Given the description of an element on the screen output the (x, y) to click on. 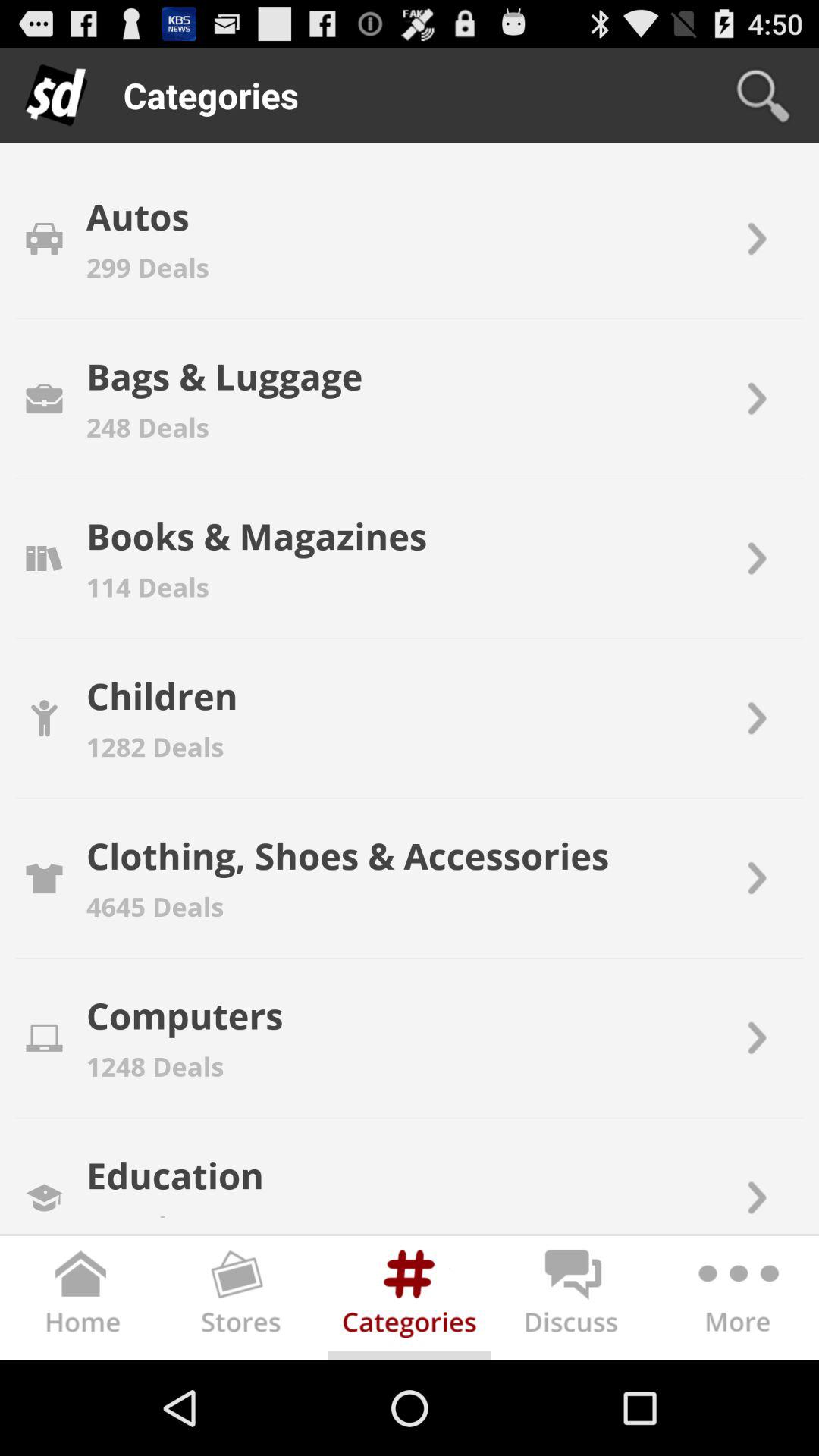
open stores (245, 1301)
